Given the description of an element on the screen output the (x, y) to click on. 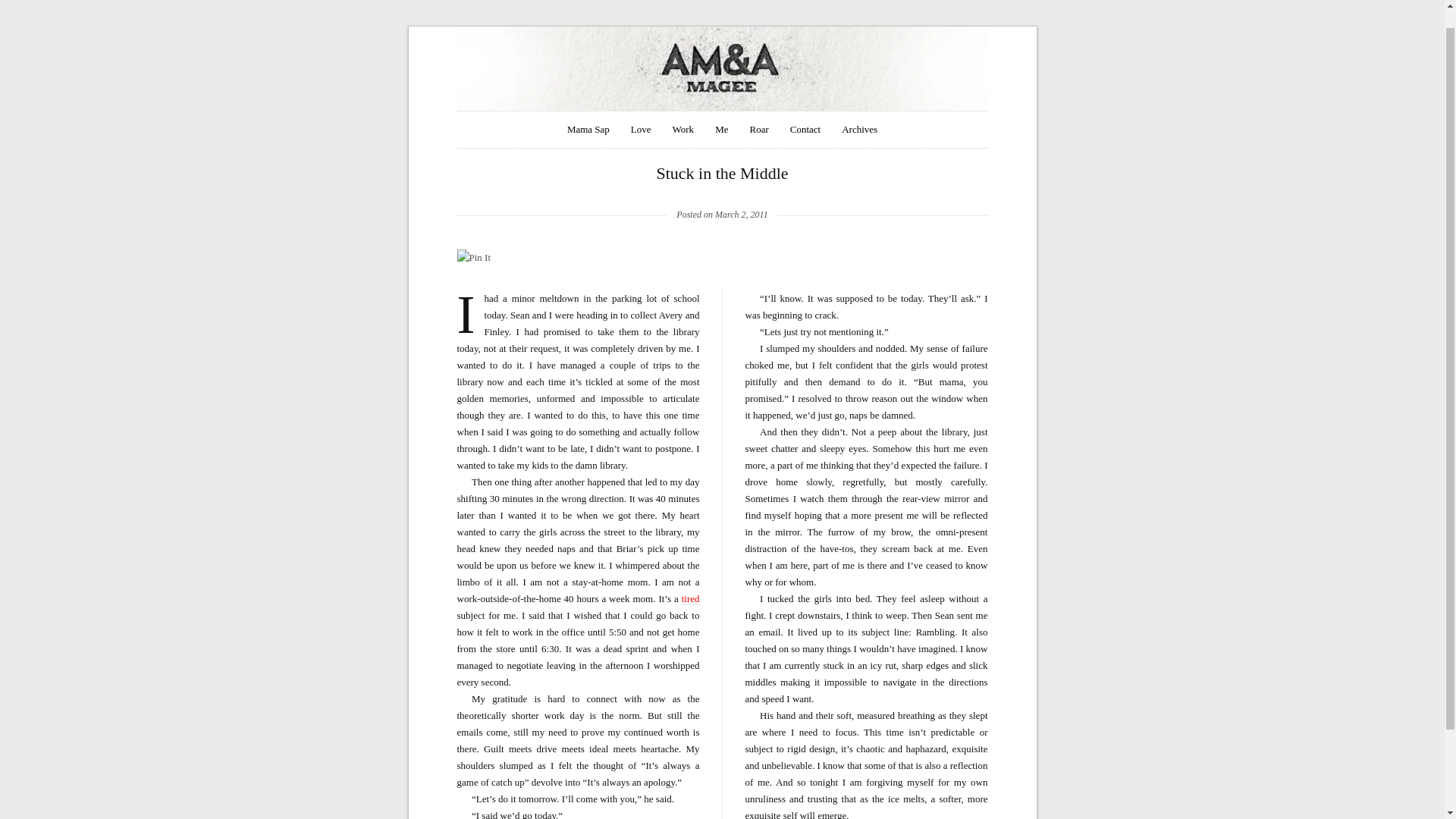
Archives (859, 129)
tired (690, 598)
Pin It (473, 257)
Mama Sap (588, 129)
